Given the description of an element on the screen output the (x, y) to click on. 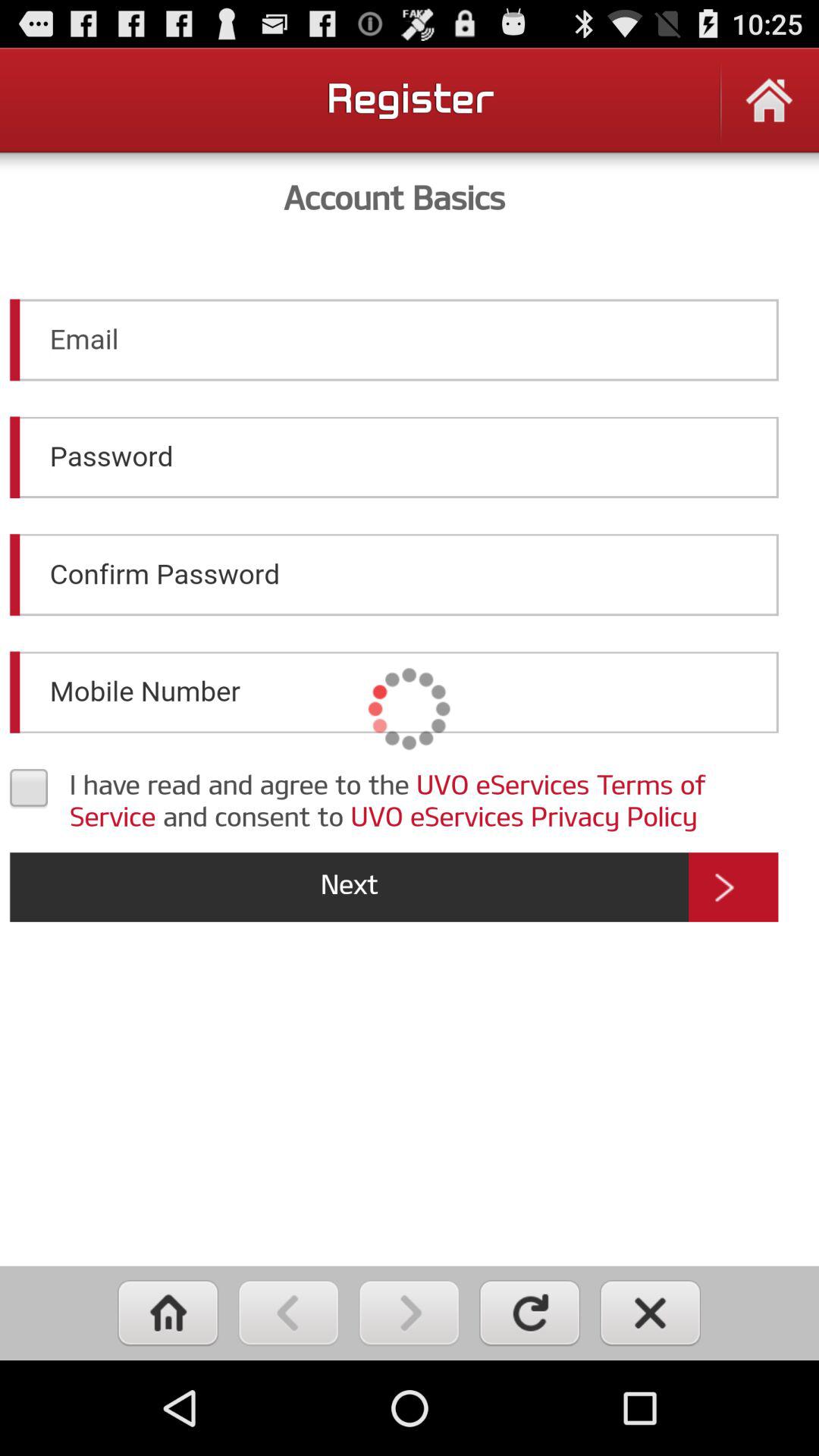
go forward (408, 1313)
